Given the description of an element on the screen output the (x, y) to click on. 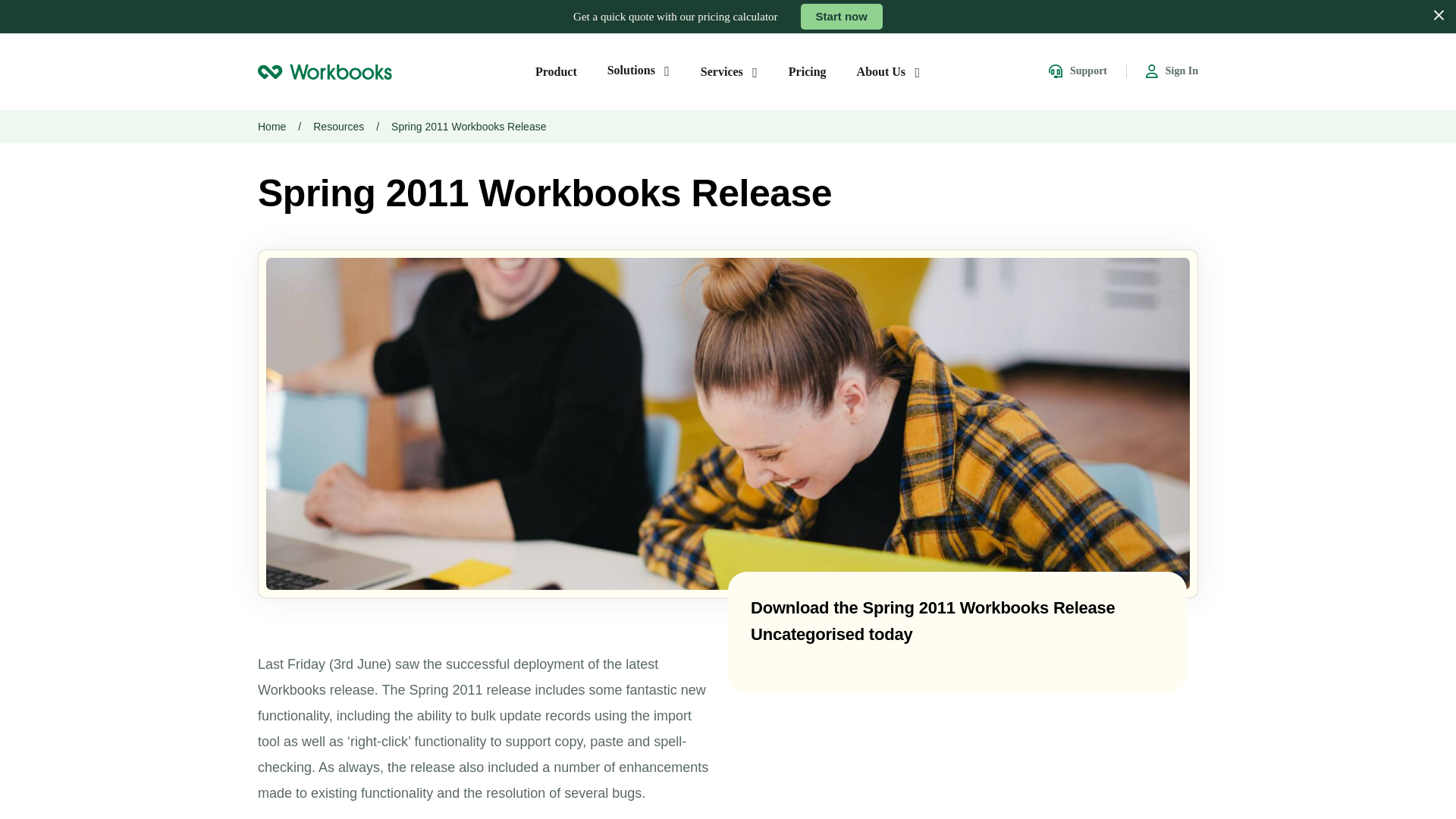
Services (729, 71)
Solutions (638, 69)
Pricing (808, 71)
About Us (888, 71)
Product (555, 71)
Sign In (1171, 70)
Support (1077, 70)
Start now (841, 16)
